Given the description of an element on the screen output the (x, y) to click on. 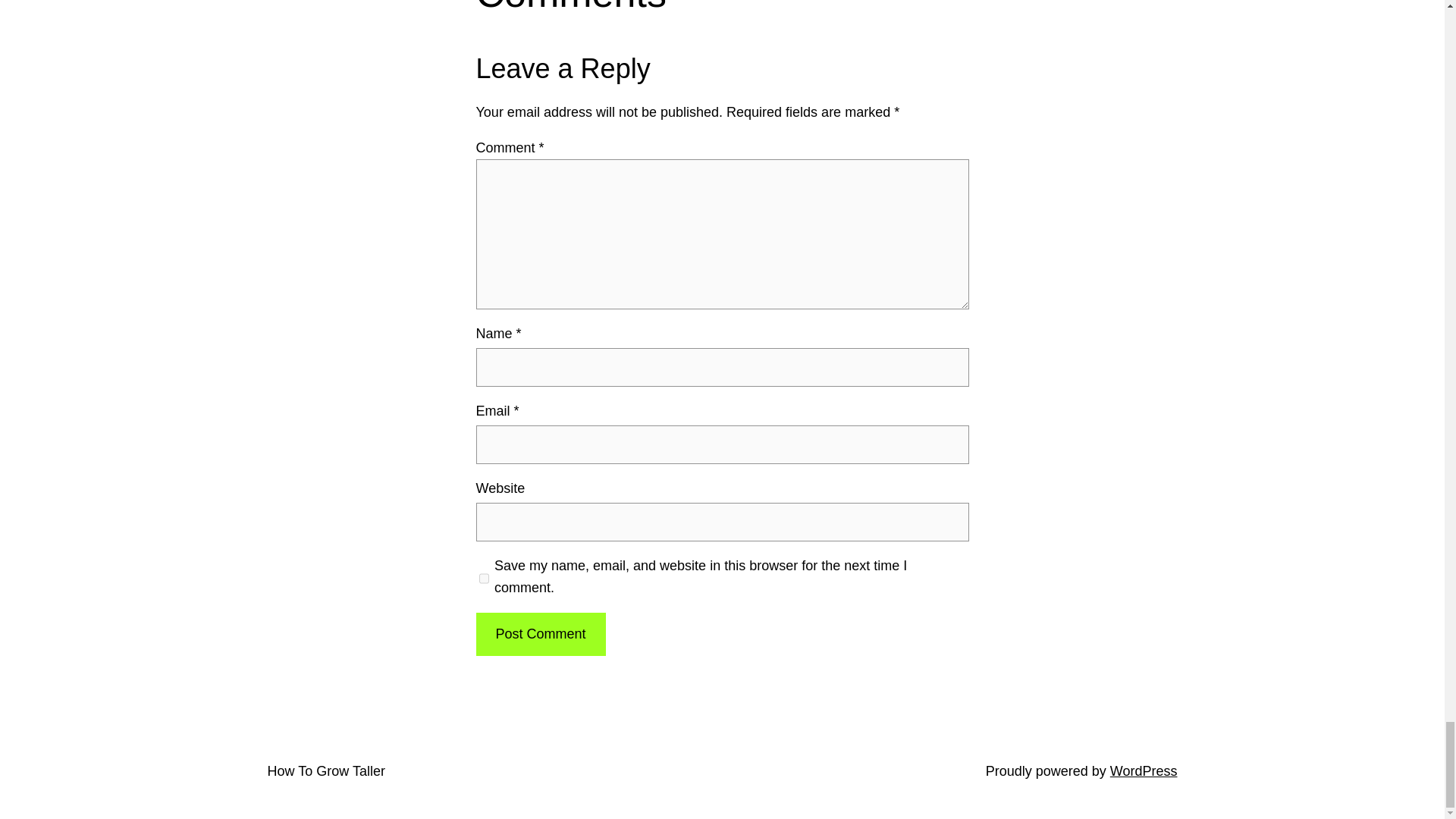
Post Comment (540, 634)
WordPress (1143, 770)
How To Grow Taller (325, 770)
Post Comment (540, 634)
